Given the description of an element on the screen output the (x, y) to click on. 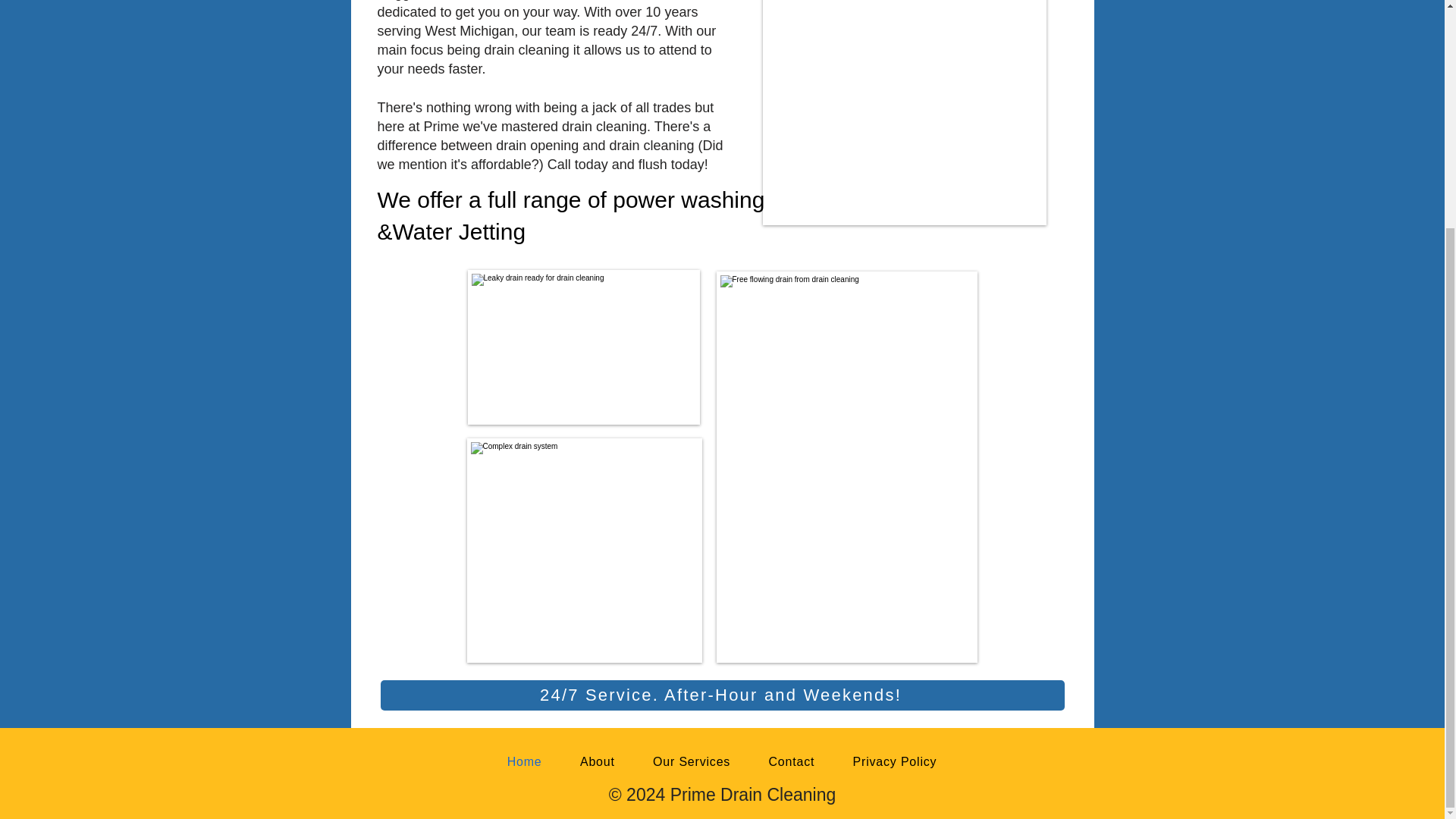
Pressure Washer on Stairs (176, 112)
Our Services (691, 761)
Leaky Sink Drain Pipe (582, 347)
Privacy Policy (893, 761)
Home (524, 761)
Contact (790, 761)
About (597, 761)
